Given the description of an element on the screen output the (x, y) to click on. 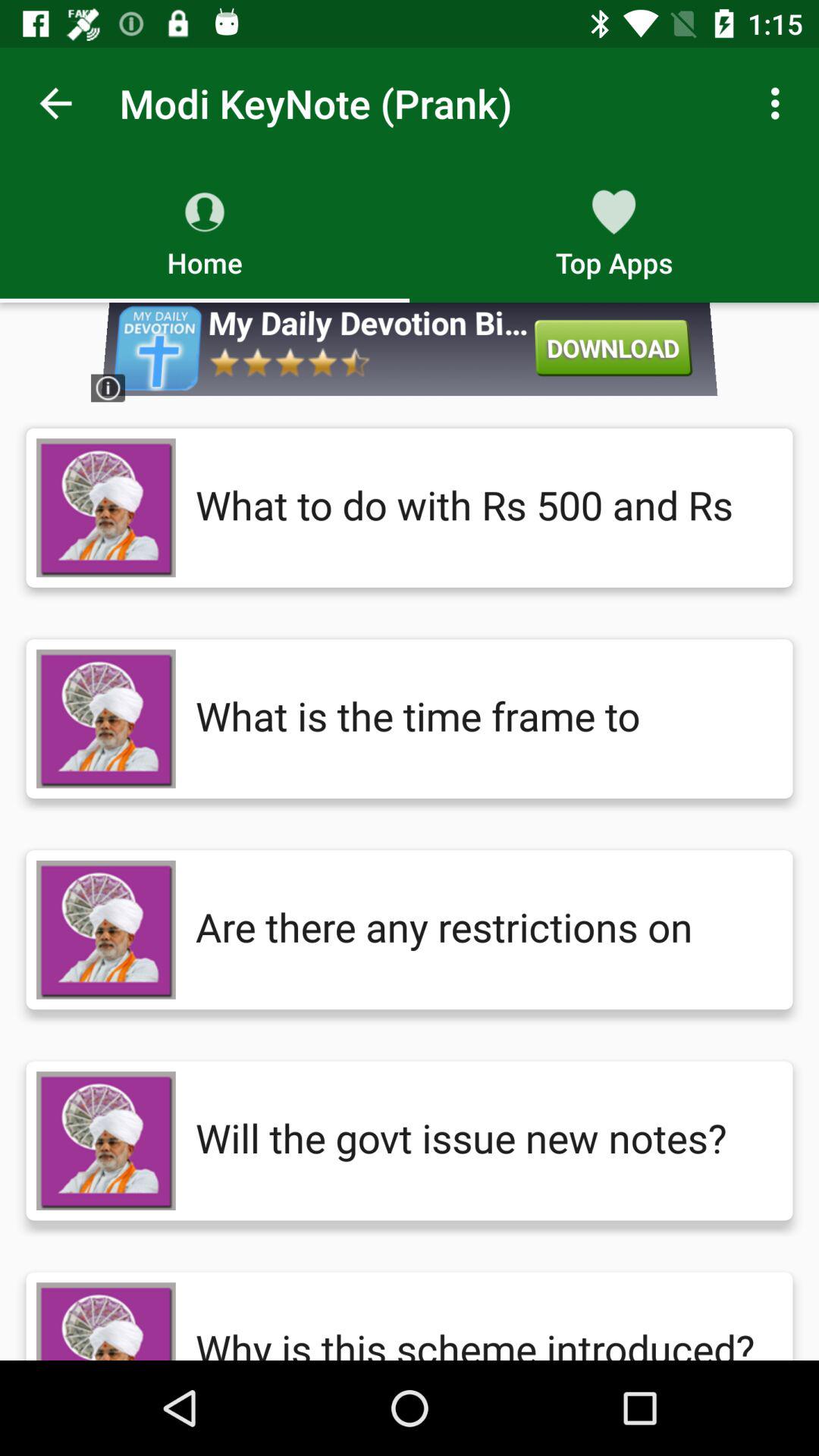
turn off the are there any icon (478, 929)
